Given the description of an element on the screen output the (x, y) to click on. 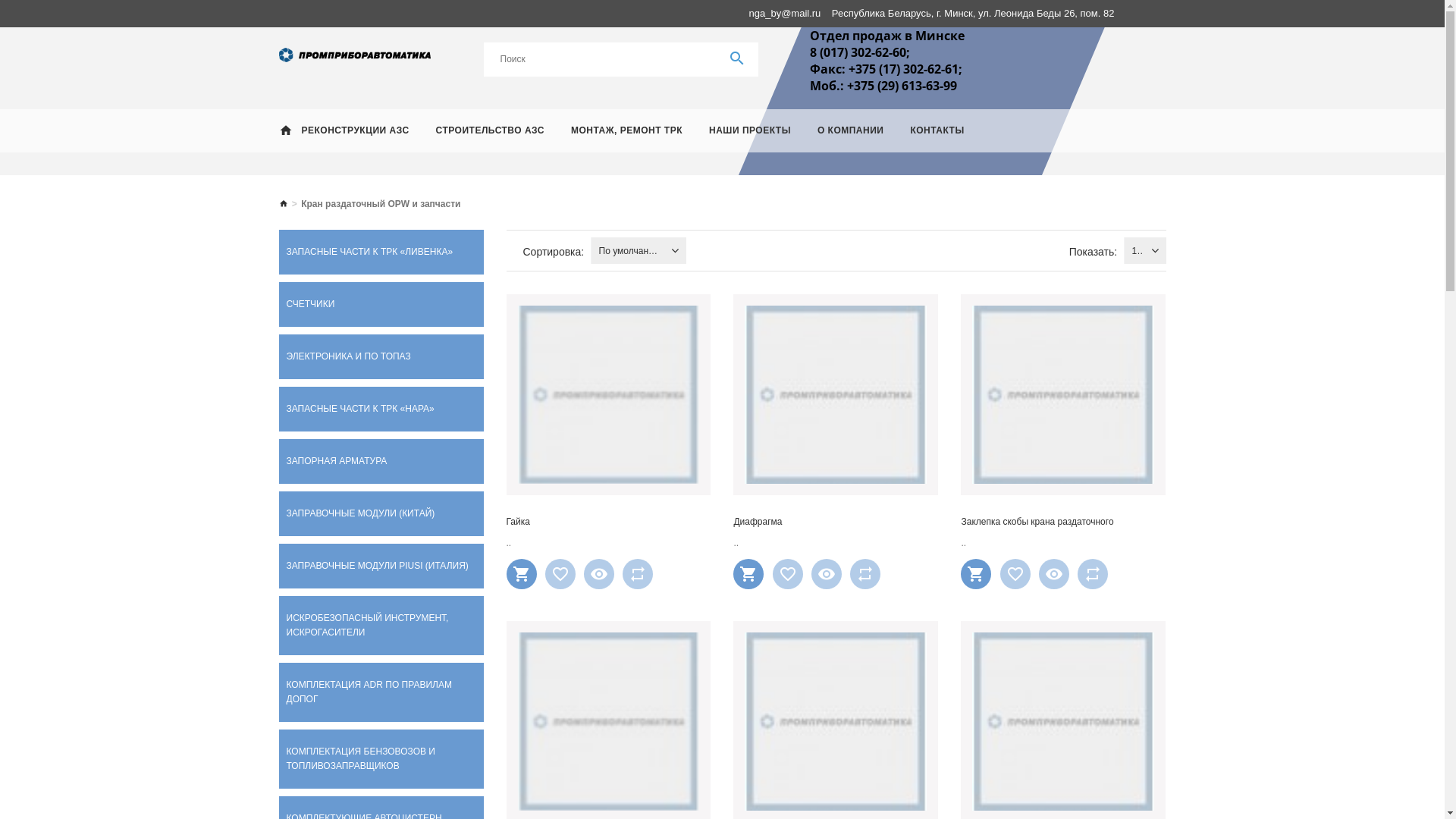
10 Element type: text (1132, 250)
Home Element type: hover (285, 131)
